Given the description of an element on the screen output the (x, y) to click on. 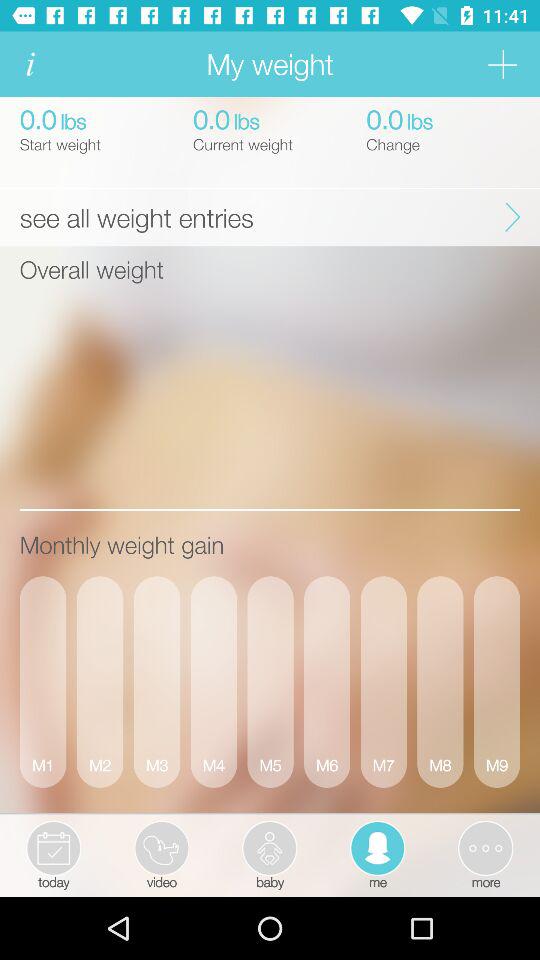
turn off the icon to the right of the my weight (502, 63)
